Given the description of an element on the screen output the (x, y) to click on. 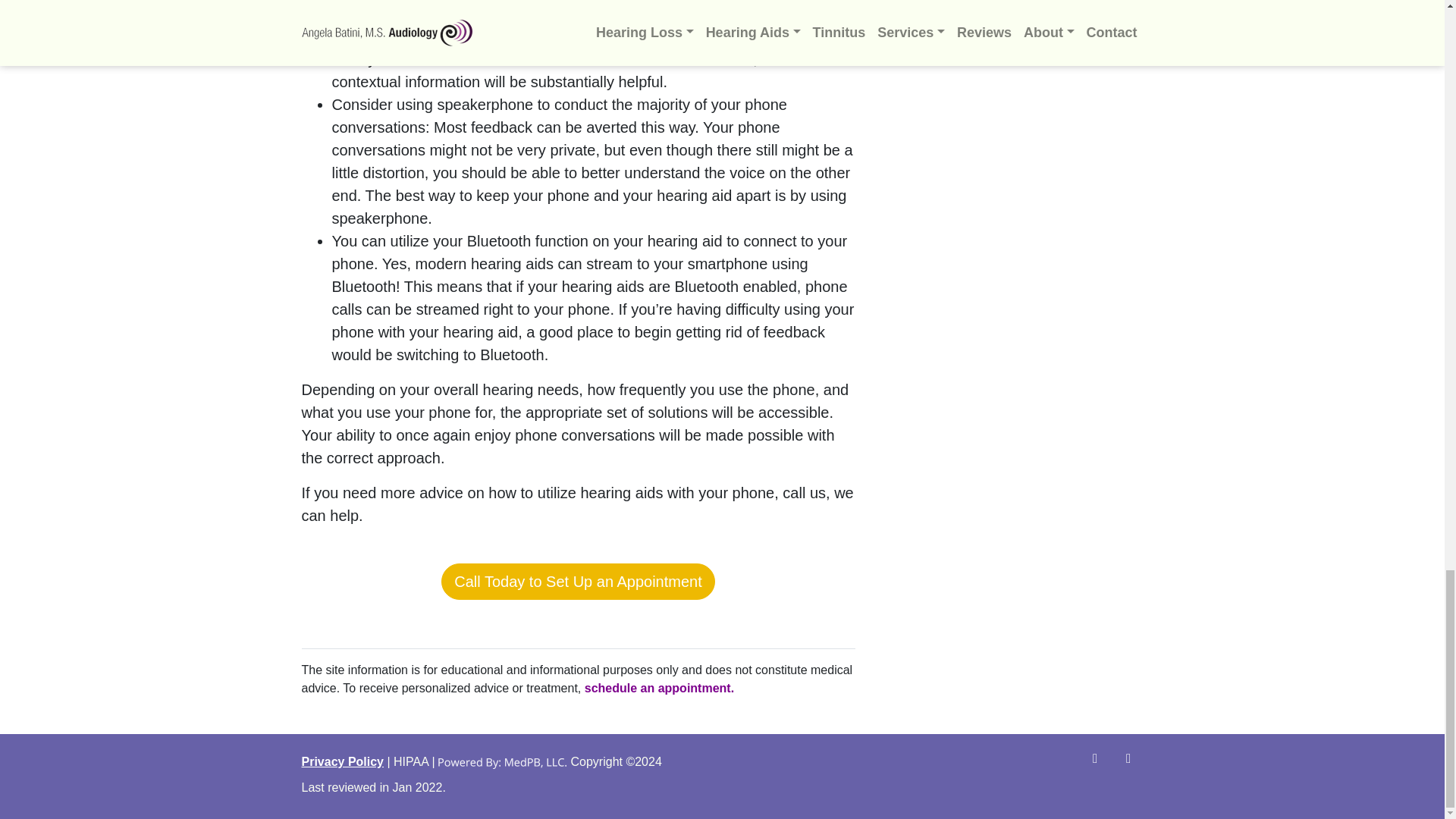
MedPB: Medical Practice Building, Marketing, Websites (502, 761)
Call Today to Set Up an Appointment (577, 581)
schedule an appointment. (659, 687)
